Given the description of an element on the screen output the (x, y) to click on. 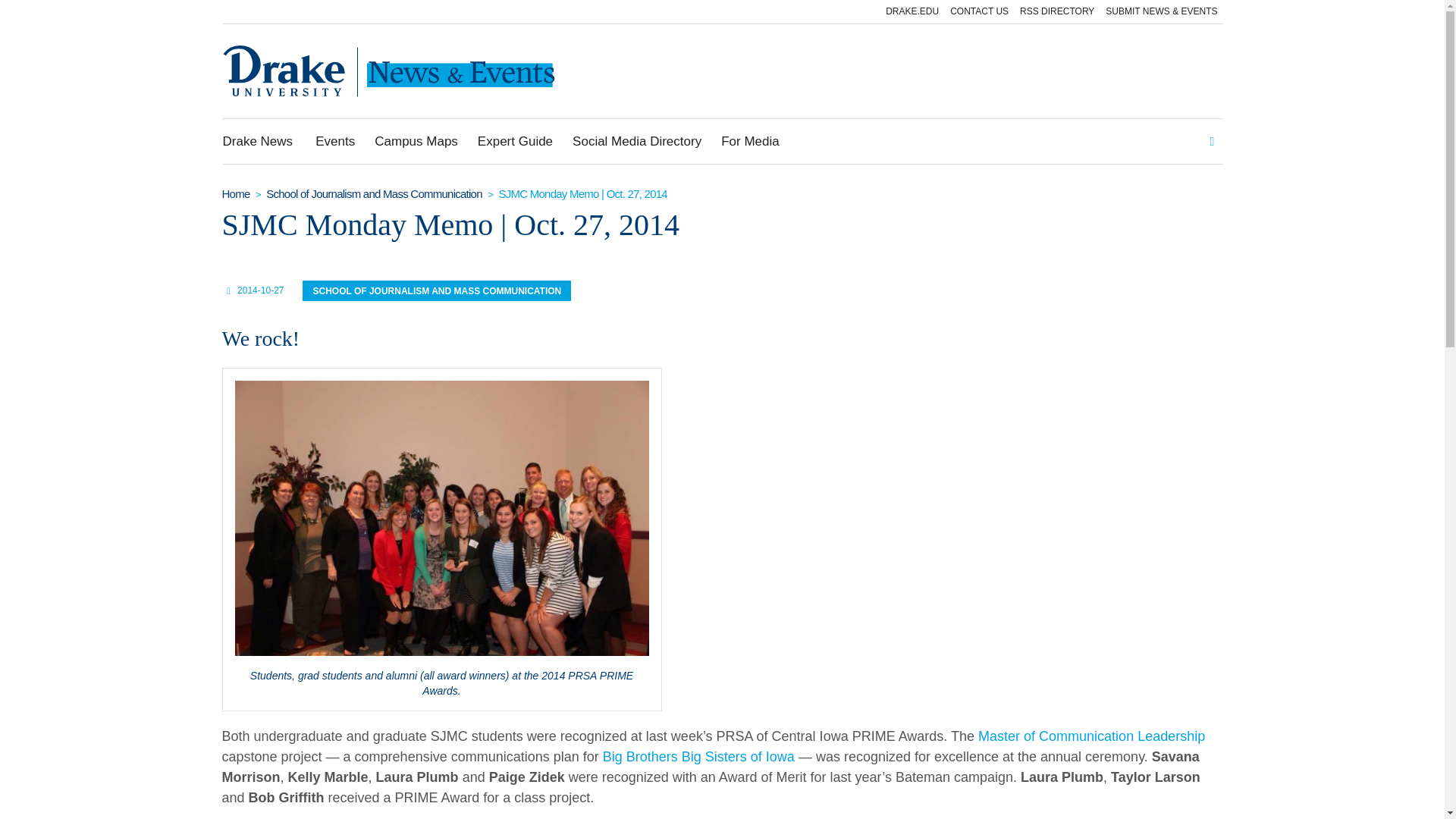
CONTACT US (978, 11)
DRAKE.EDU (911, 11)
Home (234, 194)
Master of Communication Leadership (1091, 735)
Campus Maps (416, 140)
RSS DIRECTORY (1056, 11)
Big Brothers Big Sisters of Iowa (698, 756)
SCHOOL OF JOURNALISM AND MASS COMMUNICATION (436, 290)
2014-10-27 (260, 290)
Expert Guide (514, 140)
